Given the description of an element on the screen output the (x, y) to click on. 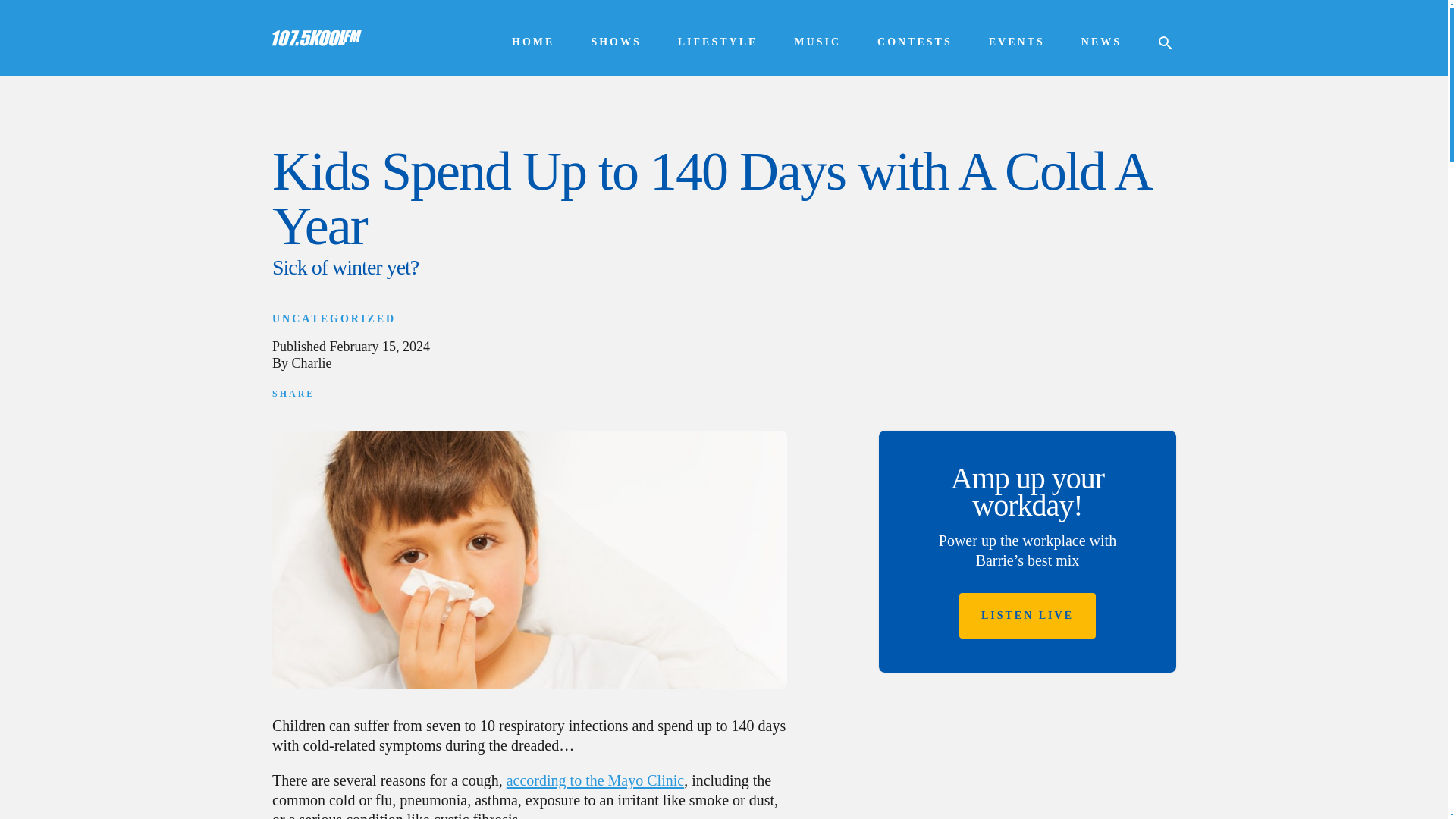
SHOWS (615, 42)
Search (29, 11)
NEWS (1101, 42)
CONTESTS (914, 42)
View all posts in Uncategorized (334, 318)
EVENTS (1016, 42)
MUSIC (817, 42)
HOME (533, 42)
UNCATEGORIZED (334, 318)
LIFESTYLE (718, 42)
Charlie (311, 362)
